Given the description of an element on the screen output the (x, y) to click on. 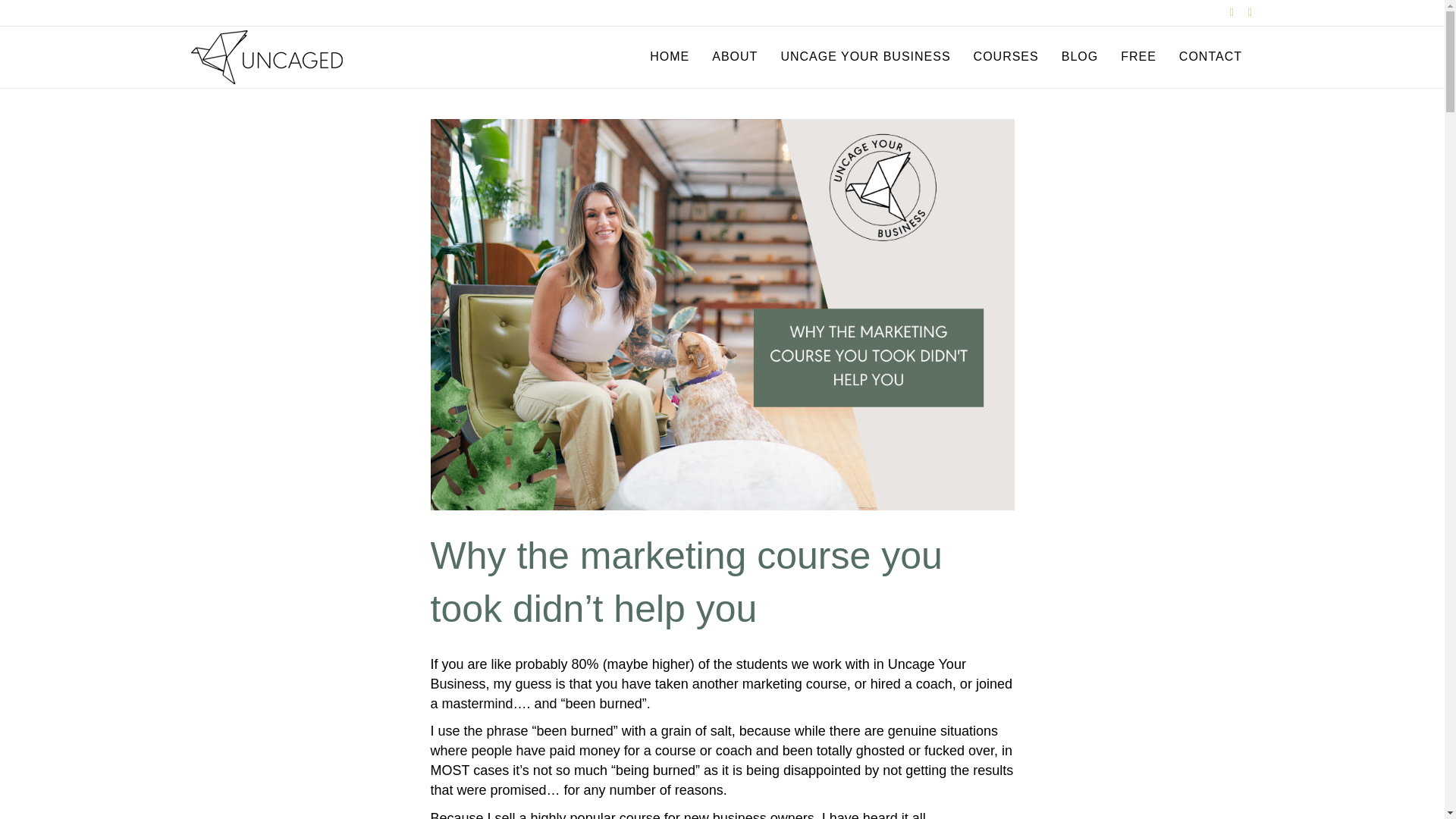
HOME (669, 56)
Facebook (1224, 11)
MEDIA (316, 796)
UNCAGE YOUR BUSINESS (864, 56)
CONTACT (1210, 56)
ABOUT (734, 56)
Instagram (1242, 11)
BLOG (1079, 56)
COURSES (1005, 56)
FREE (1138, 56)
